Given the description of an element on the screen output the (x, y) to click on. 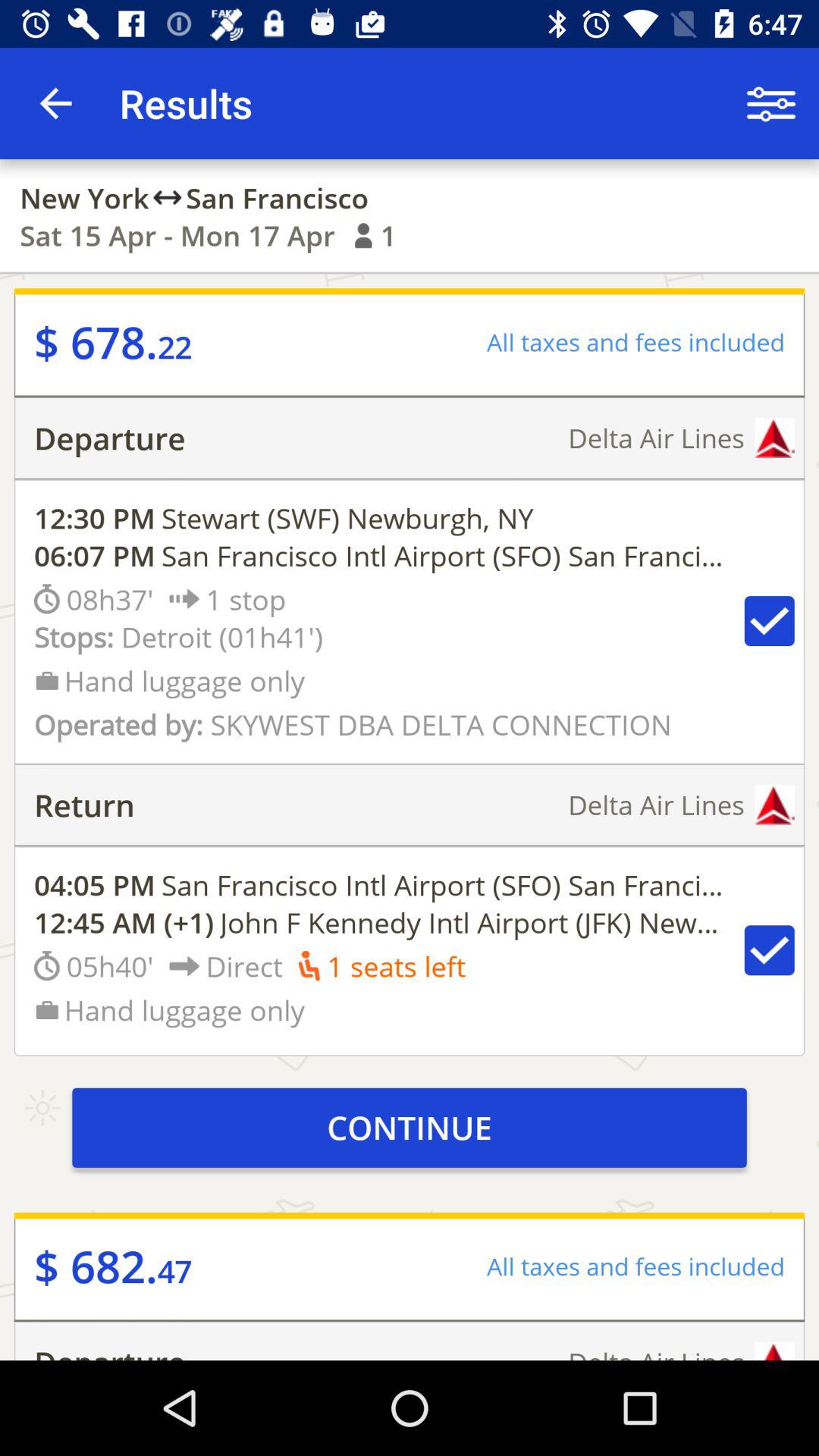
tap icon to the left of results (55, 103)
